Given the description of an element on the screen output the (x, y) to click on. 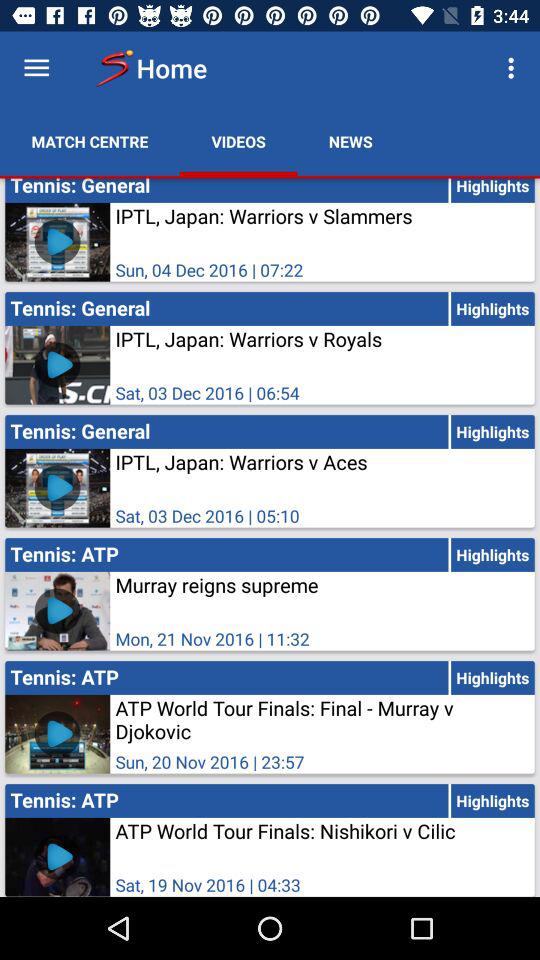
options (36, 68)
